Given the description of an element on the screen output the (x, y) to click on. 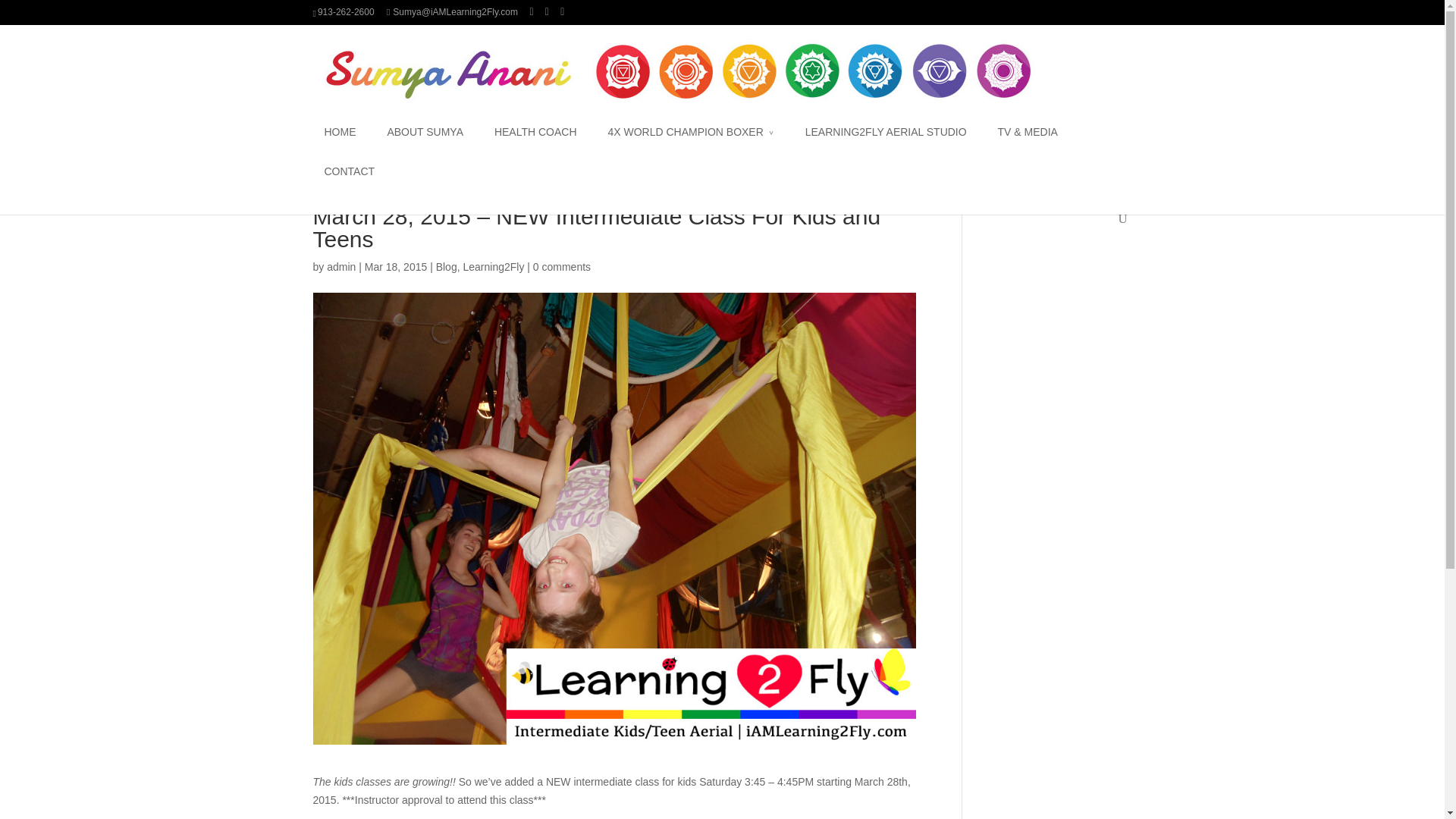
0 comments (561, 266)
Learning2Fly (493, 266)
Posts by admin (340, 266)
CONTACT (349, 182)
ABOUT SUMYA (425, 142)
4X WORLD CHAMPION BOXER (690, 142)
HEALTH COACH (535, 142)
admin (340, 266)
Blog (446, 266)
LEARNING2FLY AERIAL STUDIO (885, 142)
